Given the description of an element on the screen output the (x, y) to click on. 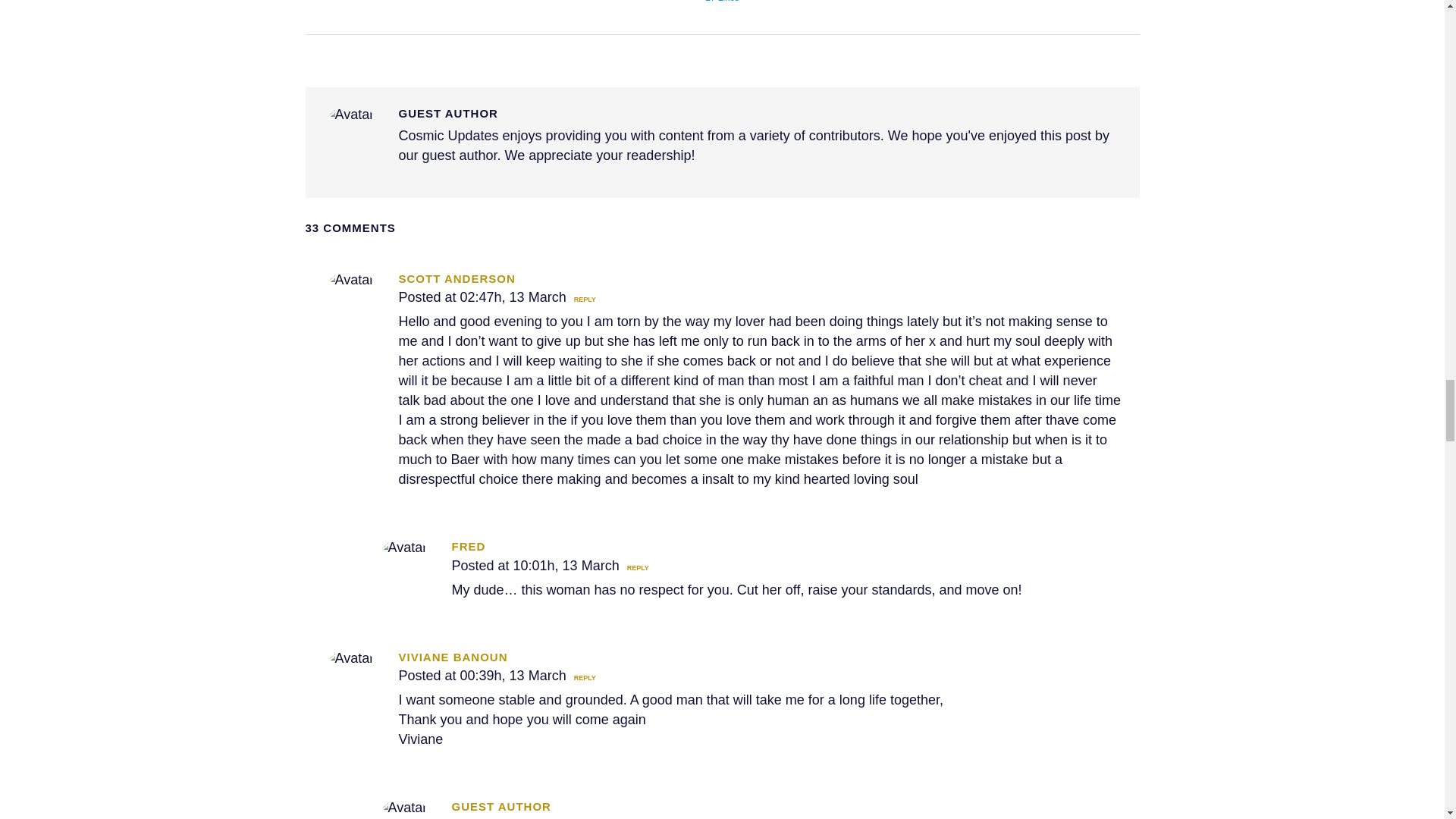
Like this (721, 3)
REPLY (582, 677)
27 Likes (721, 3)
REPLY (636, 567)
REPLY (582, 299)
